Given the description of an element on the screen output the (x, y) to click on. 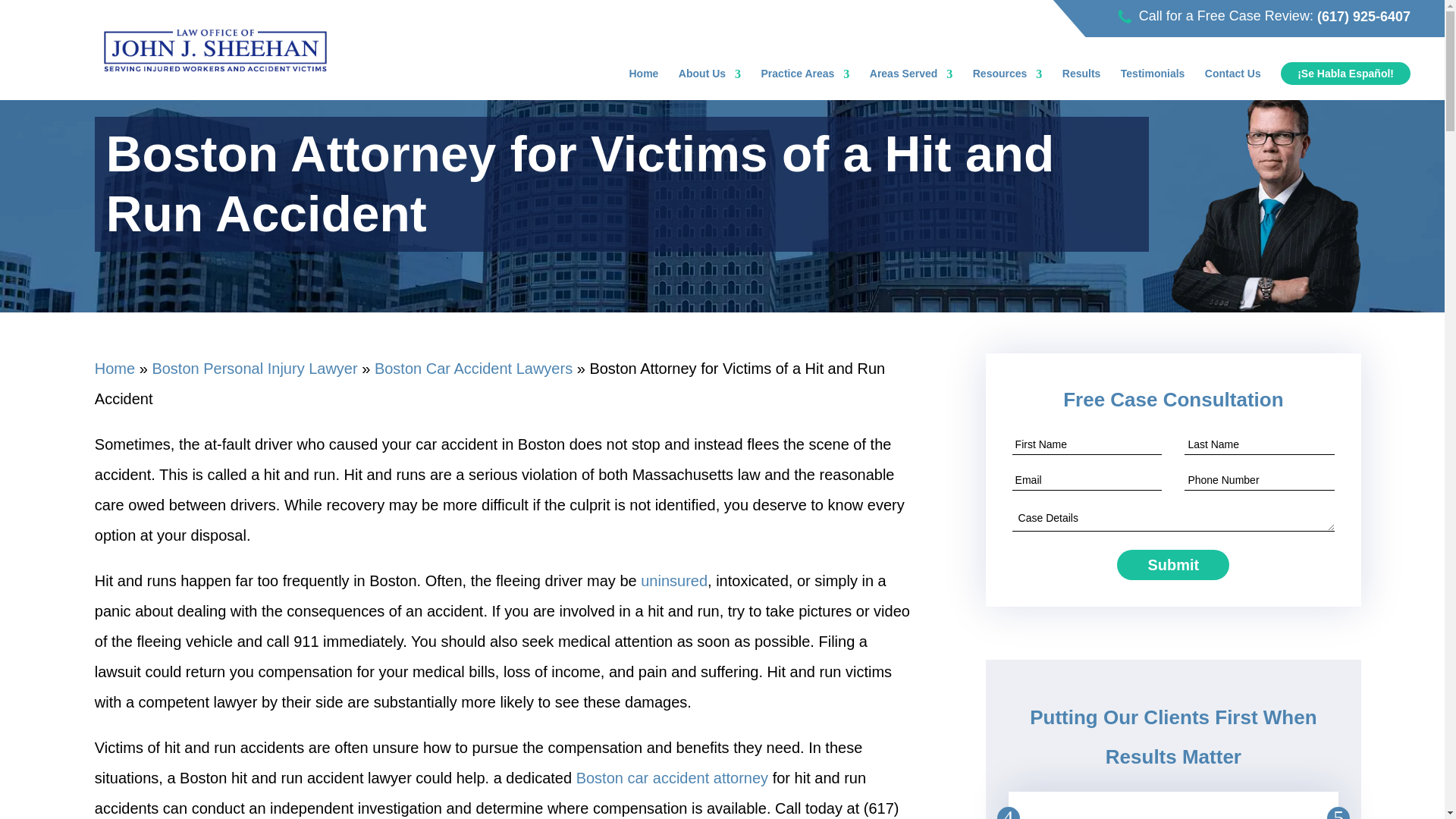
Submit (1172, 564)
About Us (709, 76)
Practice Areas (805, 76)
Home (643, 76)
